Given the description of an element on the screen output the (x, y) to click on. 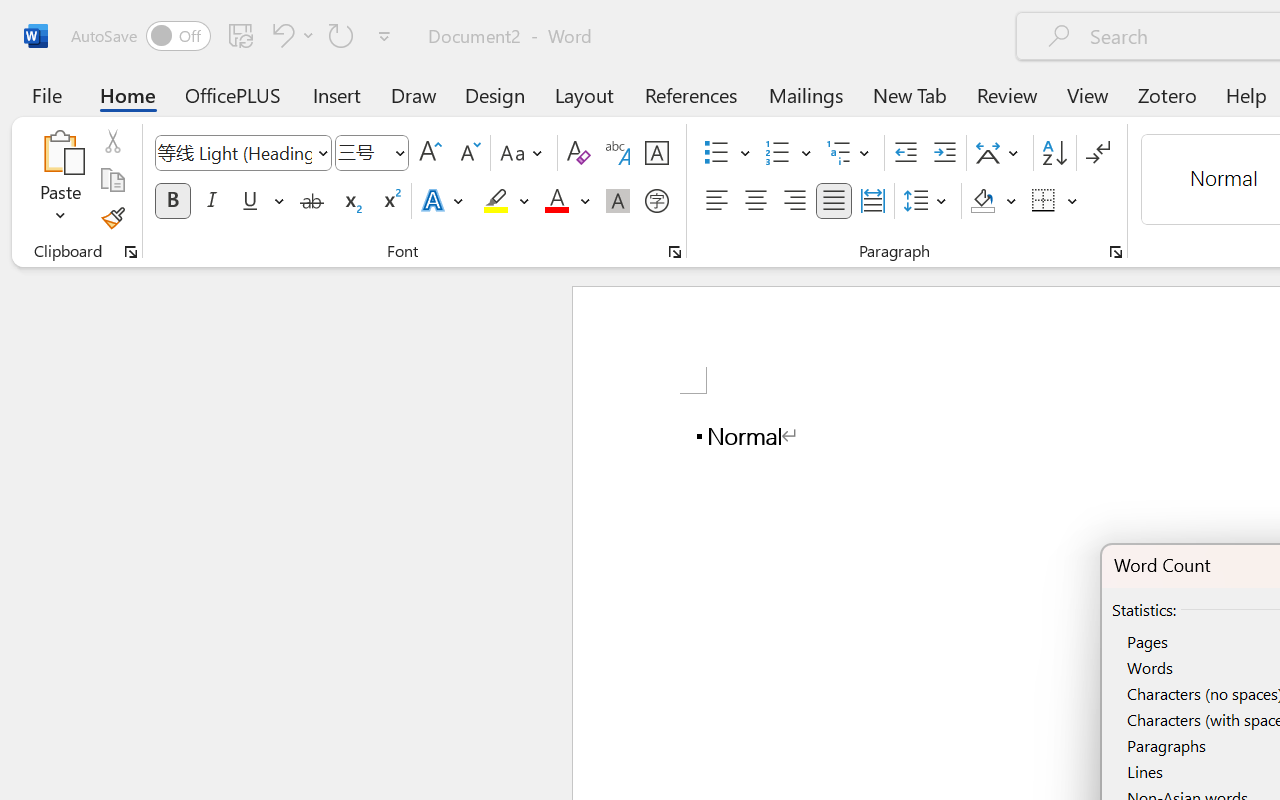
Sort... (1054, 153)
Underline (261, 201)
Open (399, 152)
Character Shading (618, 201)
Mailings (806, 94)
Paste (60, 179)
Office Clipboard... (131, 252)
View (1087, 94)
Insert (337, 94)
Bullets (716, 153)
Line and Paragraph Spacing (927, 201)
Font... (675, 252)
Bold (172, 201)
Design (495, 94)
Review (1007, 94)
